Given the description of an element on the screen output the (x, y) to click on. 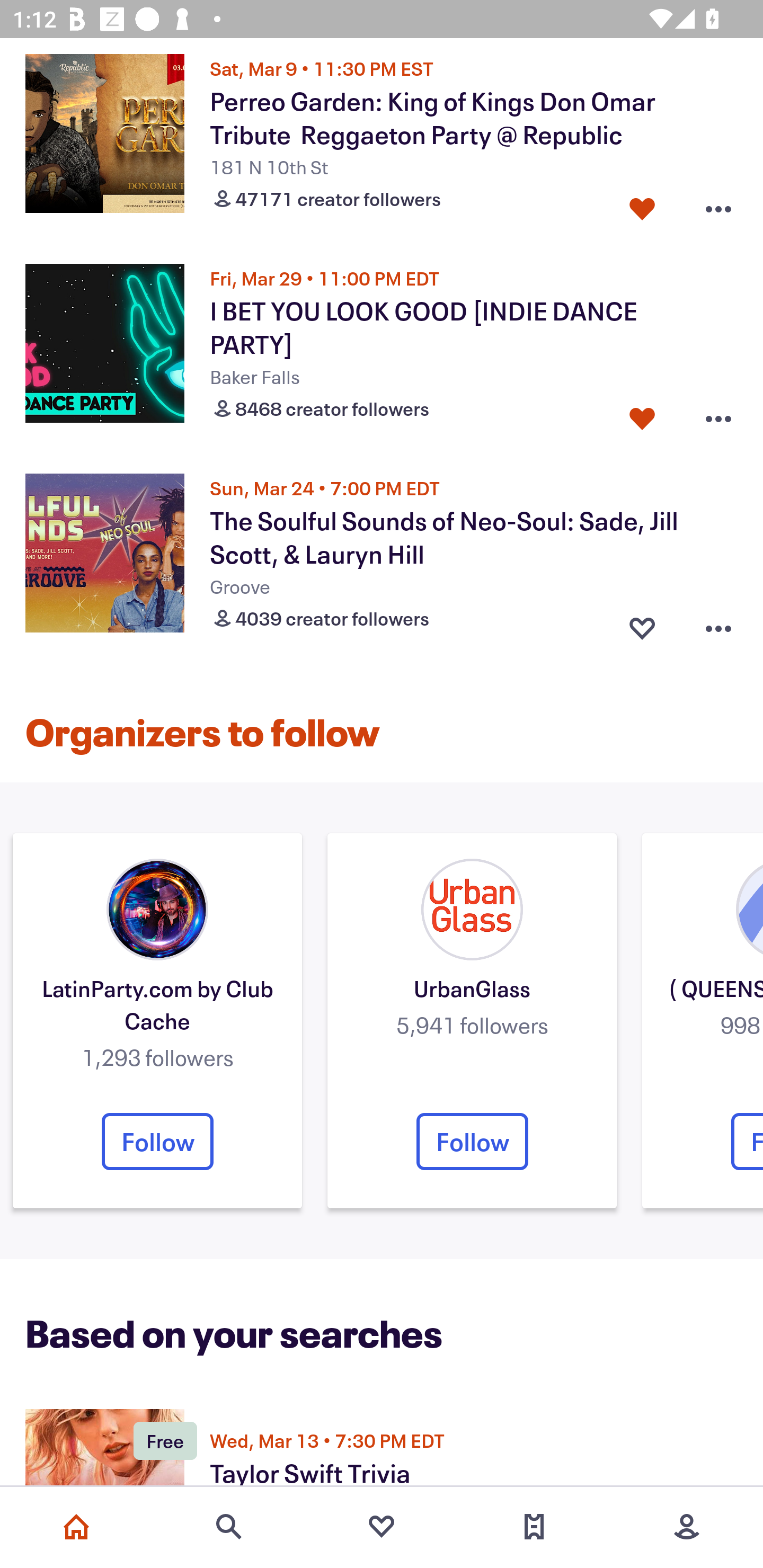
Favorite button (642, 204)
Overflow menu button (718, 204)
Favorite button (642, 414)
Overflow menu button (718, 414)
Favorite button (642, 624)
Overflow menu button (718, 624)
Follow Organizer's follow button (157, 1141)
Follow Organizer's follow button (471, 1141)
Home (76, 1526)
Search events (228, 1526)
Favorites (381, 1526)
Tickets (533, 1526)
More (686, 1526)
